Given the description of an element on the screen output the (x, y) to click on. 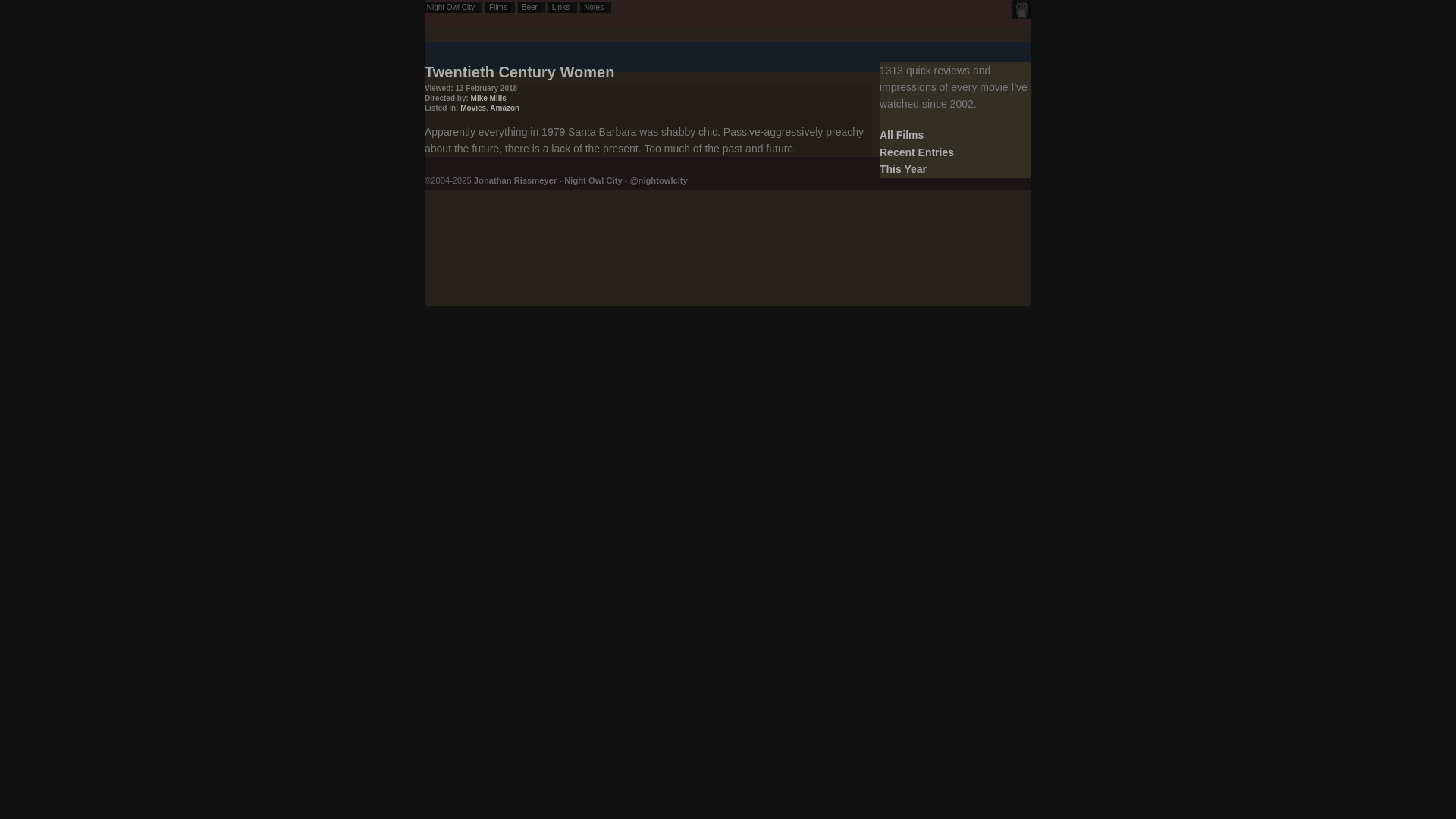
Movies (473, 108)
Links (562, 7)
Amazon (504, 108)
All Films (901, 134)
Night Owl (1020, 9)
Mike Mills (488, 98)
Notes (595, 7)
Twentieth Century Women (519, 71)
Night Owl City (592, 180)
Beer (531, 7)
